Given the description of an element on the screen output the (x, y) to click on. 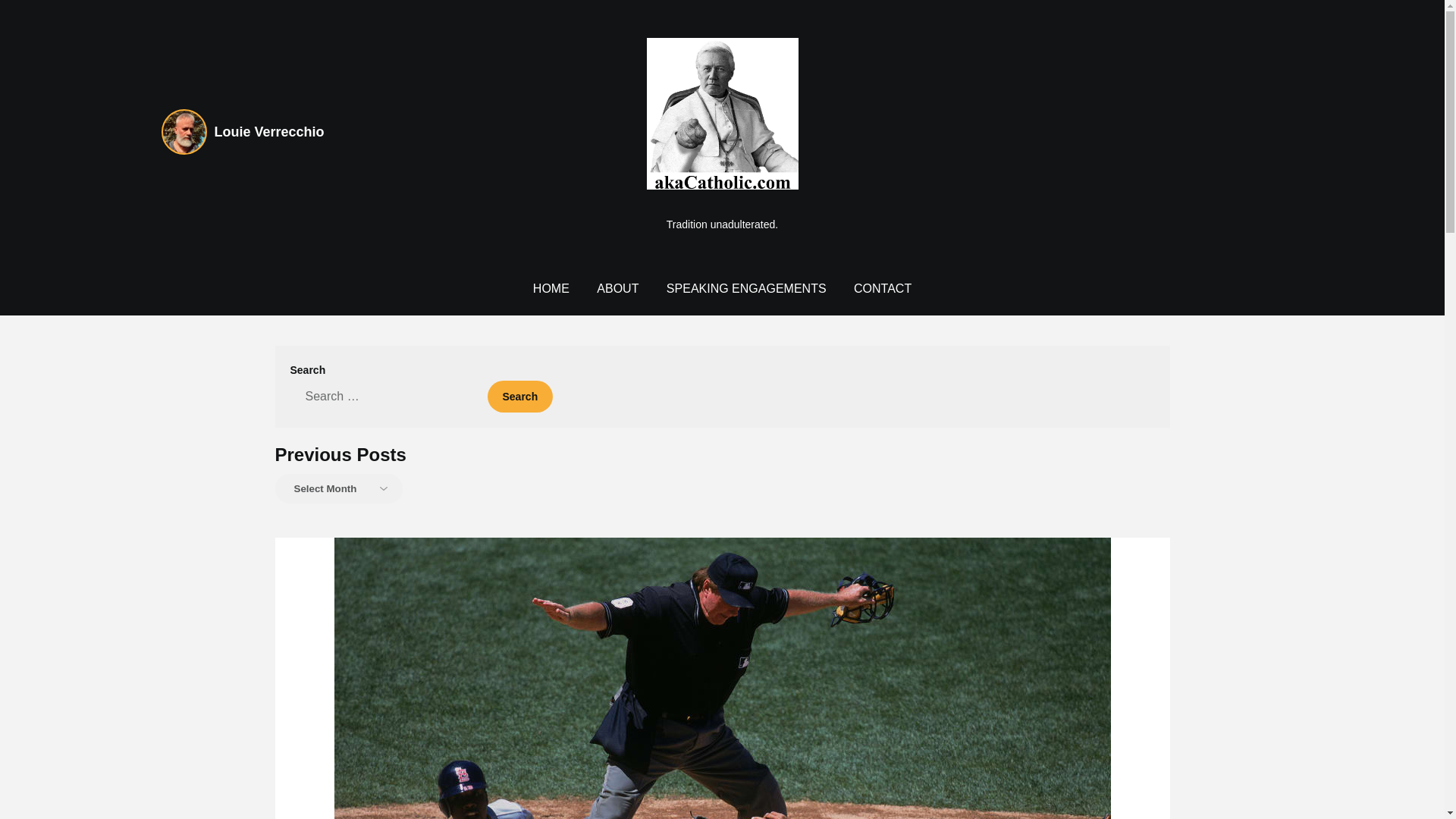
Search (519, 396)
ABOUT (617, 288)
SPEAKING ENGAGEMENTS (745, 288)
Search (519, 396)
CONTACT (882, 288)
Search (519, 396)
HOME (550, 288)
